Given the description of an element on the screen output the (x, y) to click on. 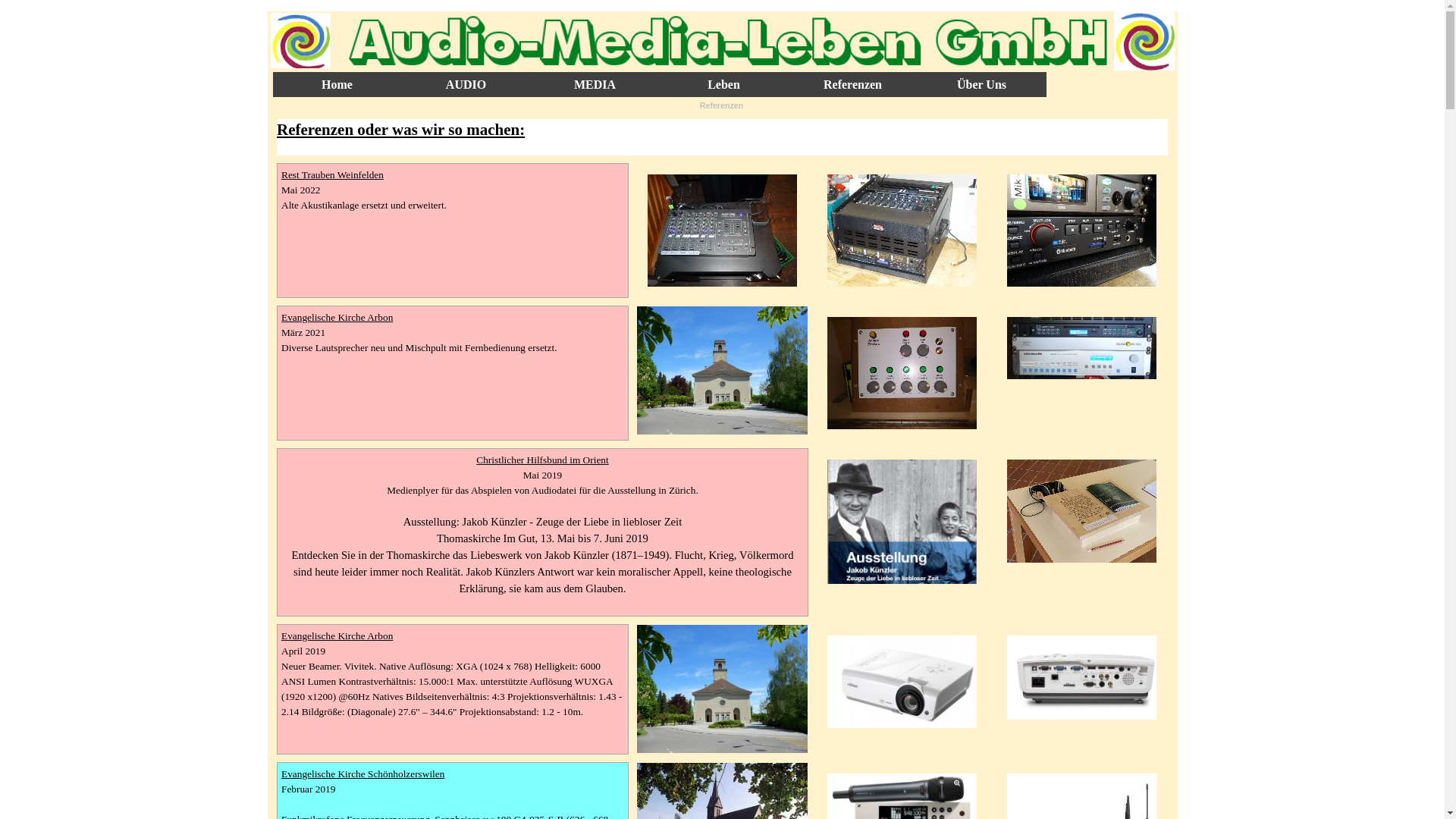
Leben Element type: text (724, 84)
Referenzen Element type: text (853, 84)
Home Element type: text (337, 84)
